Given the description of an element on the screen output the (x, y) to click on. 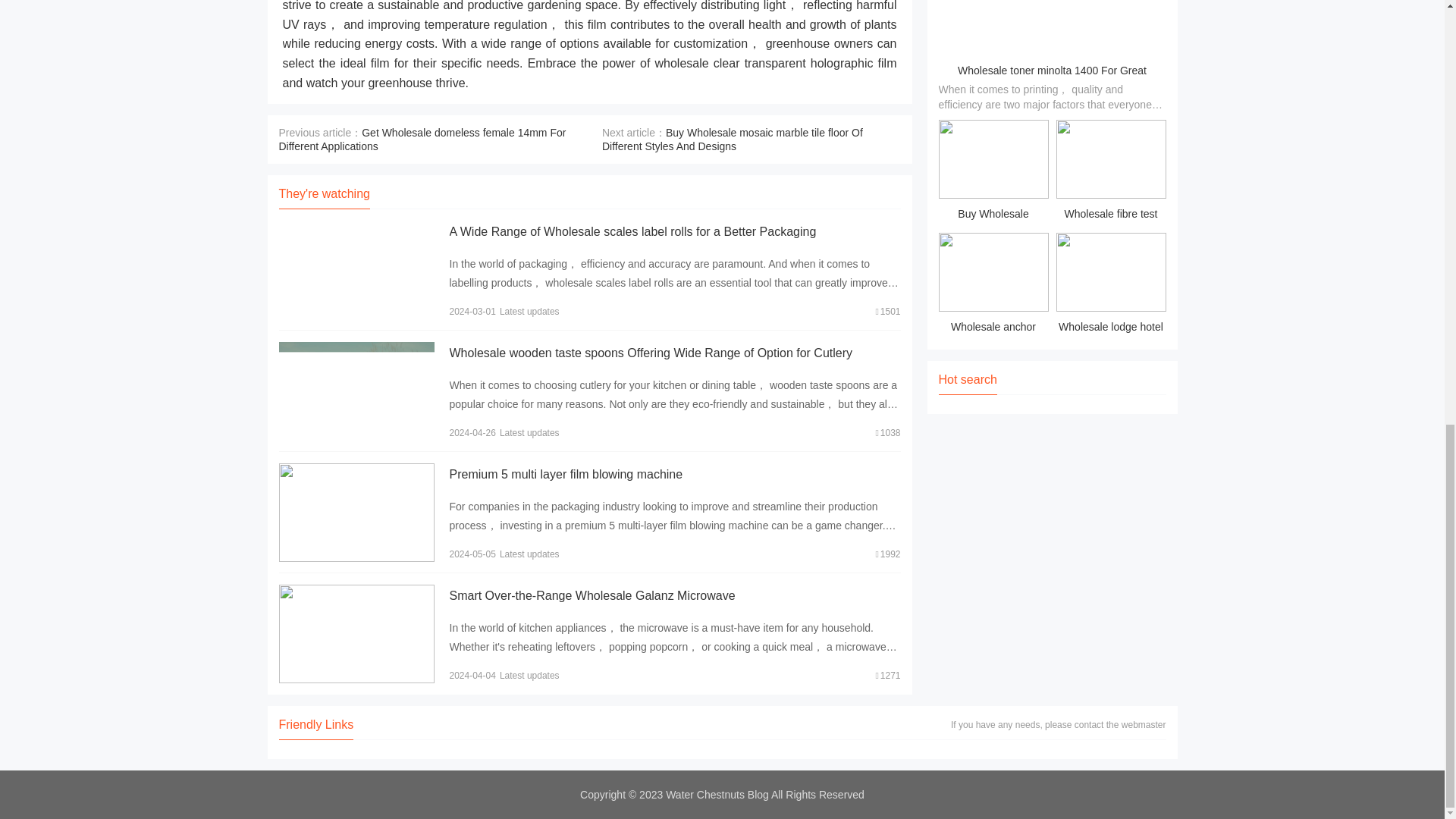
Wholesale lodge hotel Including Disposable Accessories (1110, 285)
Wholesale anchor industries Designed For Concrete Masonry (993, 285)
Buy Wholesale biomass to bio oil As It Is Energy Efficient (993, 172)
Premium 5 multi layer film blowing machine (565, 473)
Smart Over-the-Range Wholesale Galanz Microwave (591, 594)
Wholesale fibre test instrument To Test Electronic Equipment (1110, 172)
